Given the description of an element on the screen output the (x, y) to click on. 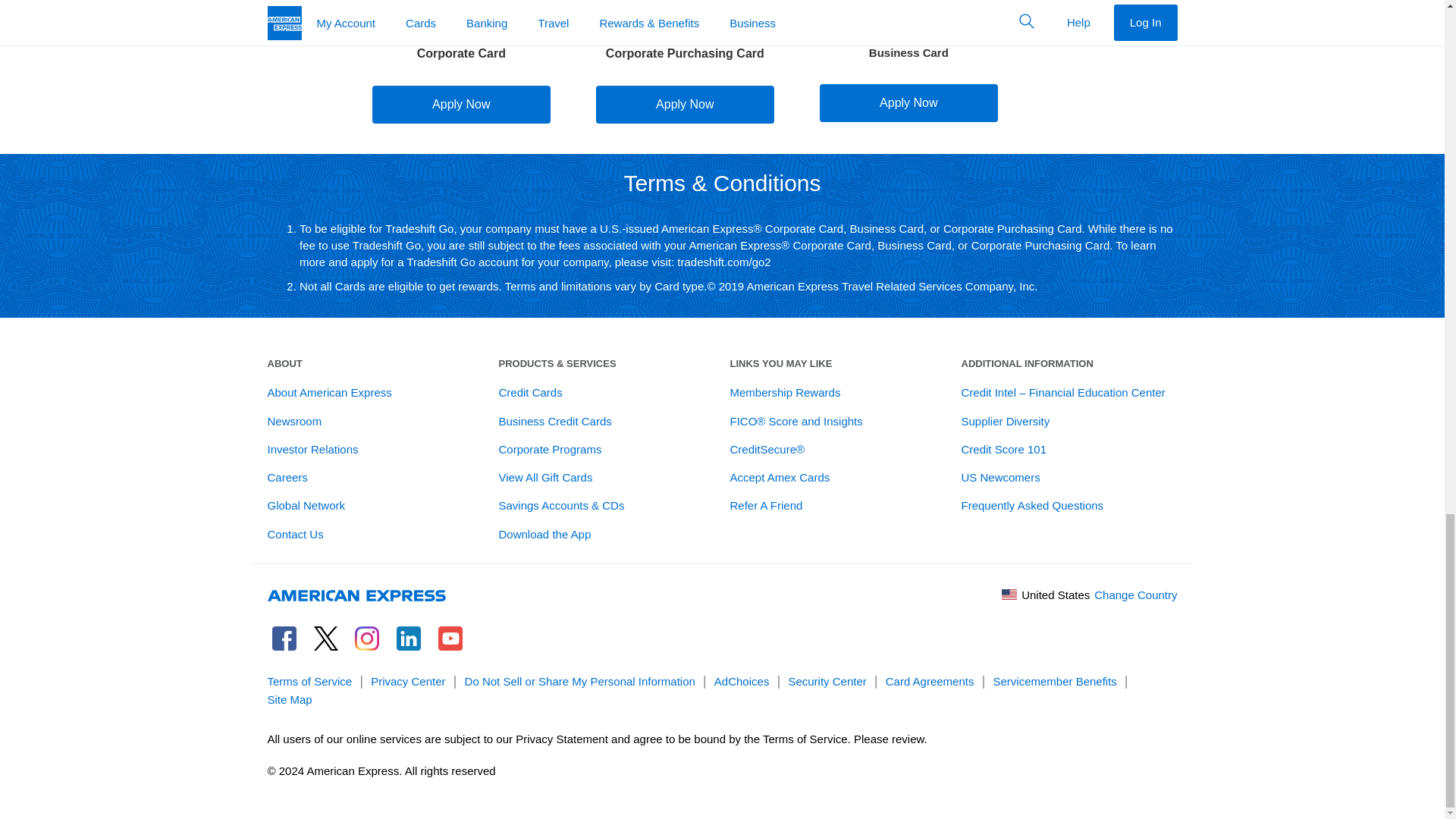
Credit Cards (530, 391)
Investor Relations (312, 449)
Careers (286, 477)
About American Express (328, 391)
Newsroom (293, 420)
Global Network (305, 504)
Contact Us (294, 533)
